Given the description of an element on the screen output the (x, y) to click on. 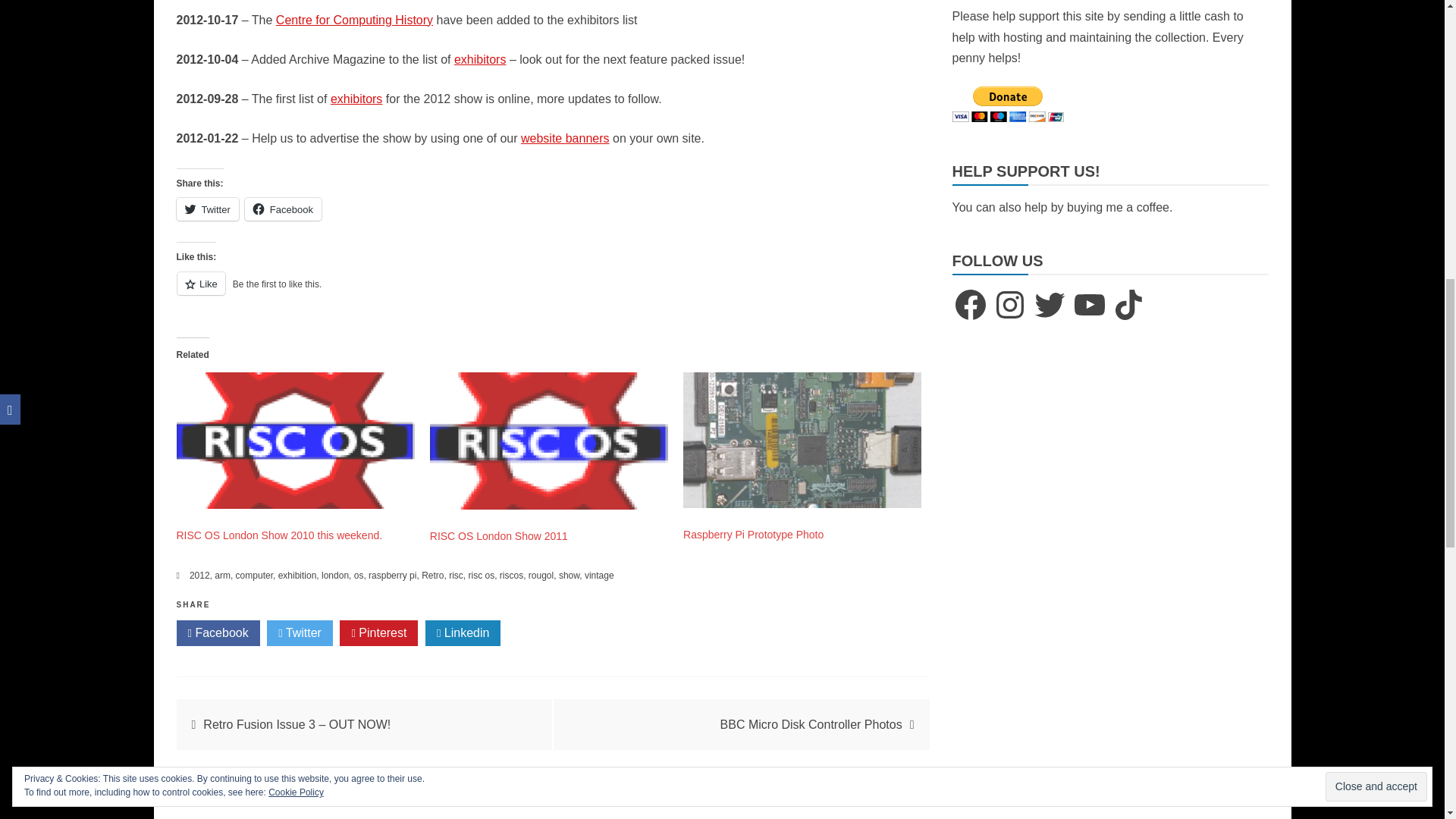
Raspberry Pi Prototype Photo (753, 534)
Raspberry Pi Prototype Photo (801, 440)
Click to share on Twitter (207, 209)
Click to share on Facebook (282, 209)
RISC OS London Show 2011 (548, 440)
RISC OS London Show 2010 this weekend. (278, 535)
Like or Reblog (552, 291)
RISC OS London Show 2010 this weekend. (294, 440)
RISC OS London Show 2011 (498, 535)
